Given the description of an element on the screen output the (x, y) to click on. 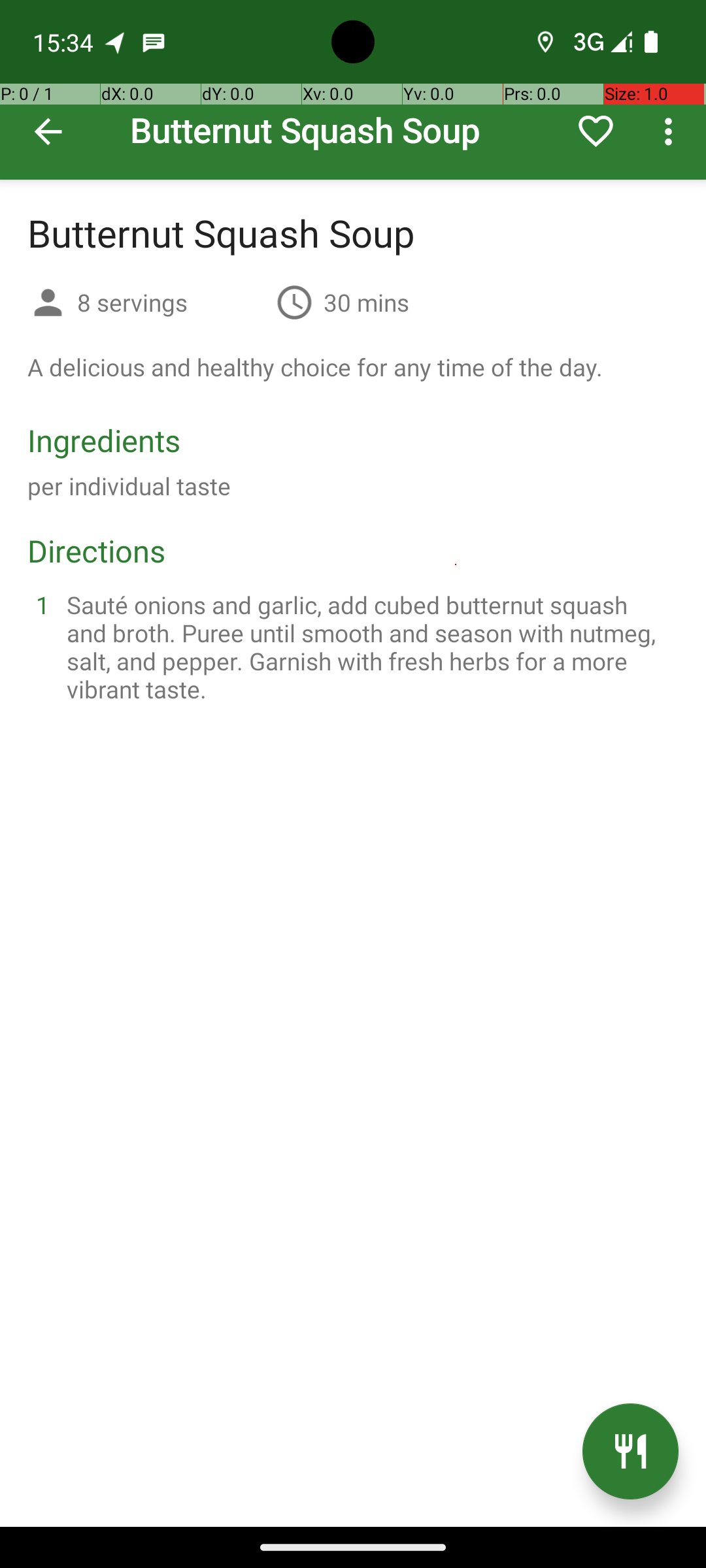
per individual taste Element type: android.widget.TextView (128, 485)
Sauté onions and garlic, add cubed butternut squash and broth. Puree until smooth and season with nutmeg, salt, and pepper. Garnish with fresh herbs for a more vibrant taste. Element type: android.widget.TextView (368, 646)
SMS Messenger notification: Noa Mohamed Element type: android.widget.ImageView (153, 41)
